Given the description of an element on the screen output the (x, y) to click on. 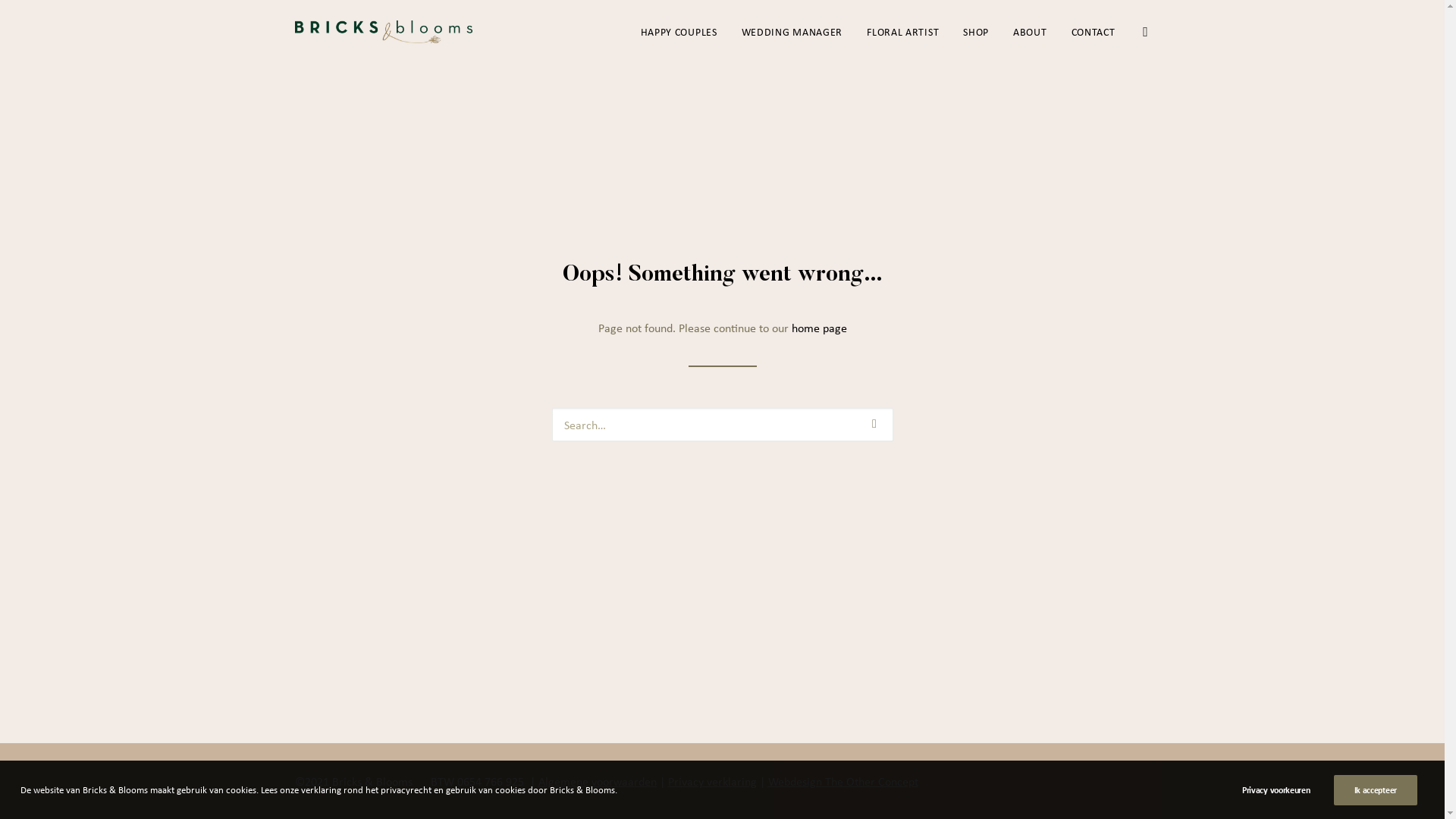
WEDDING MANAGER Element type: text (792, 31)
Privacy verklaring Element type: text (711, 780)
CONTACT Element type: text (1087, 31)
cart Element type: hover (1141, 31)
Ik accepteer Element type: text (1375, 790)
Webdesign The Other Concept Element type: text (842, 780)
Privacy voorkeuren Element type: text (1286, 789)
FLORAL ARTIST Element type: text (902, 31)
Search for: Element type: hover (722, 424)
SHOP Element type: text (975, 31)
ABOUT Element type: text (1029, 31)
HAPPY COUPLES Element type: text (679, 31)
Algemene voorwaarden Element type: text (597, 780)
home page Element type: text (819, 327)
